Given the description of an element on the screen output the (x, y) to click on. 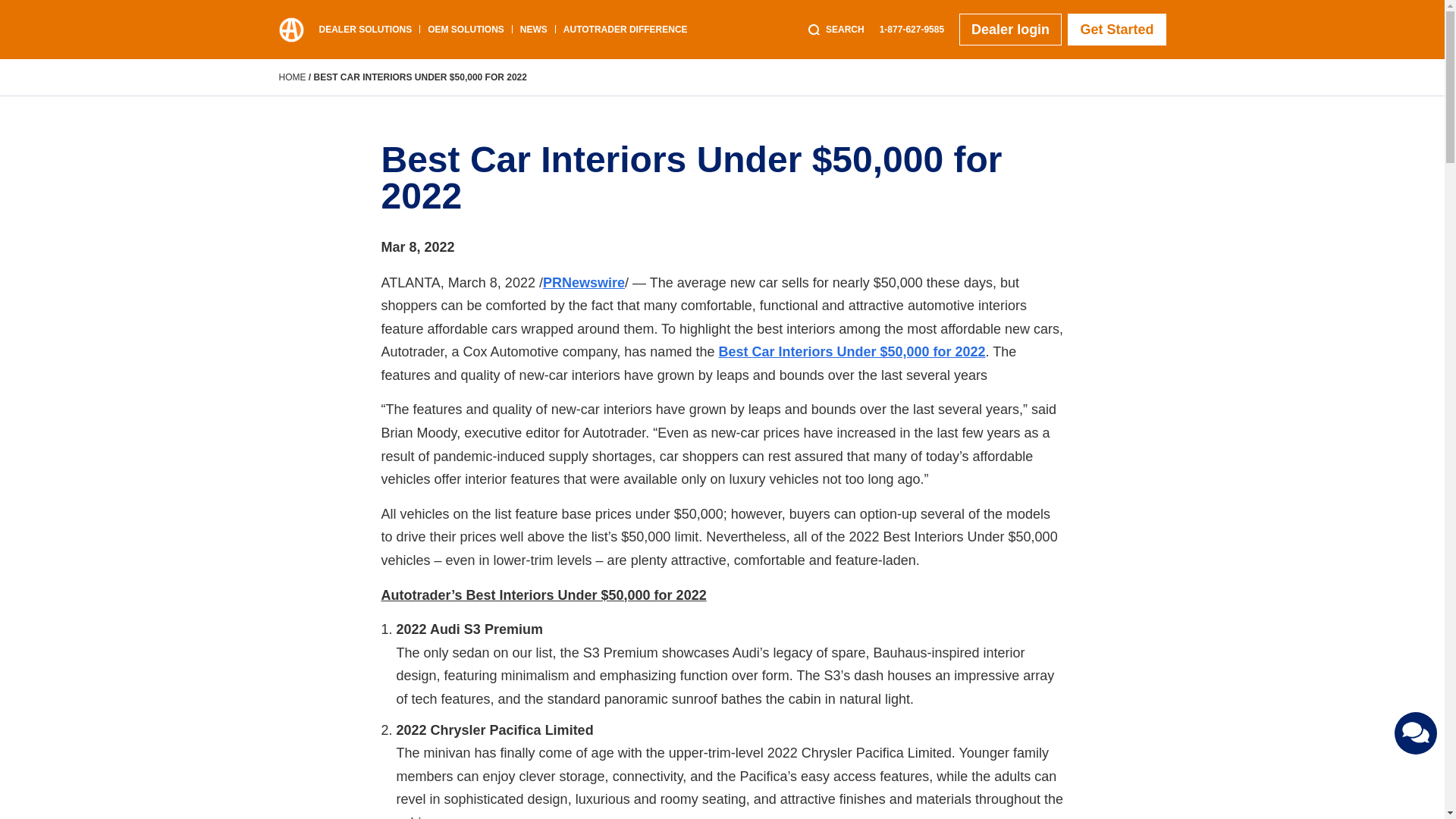
DEALER SOLUTIONS (365, 29)
NEWS (533, 29)
OEM SOLUTIONS (465, 29)
AUTOTRADER DIFFERENCE (625, 29)
Start Chat (1415, 732)
